Given the description of an element on the screen output the (x, y) to click on. 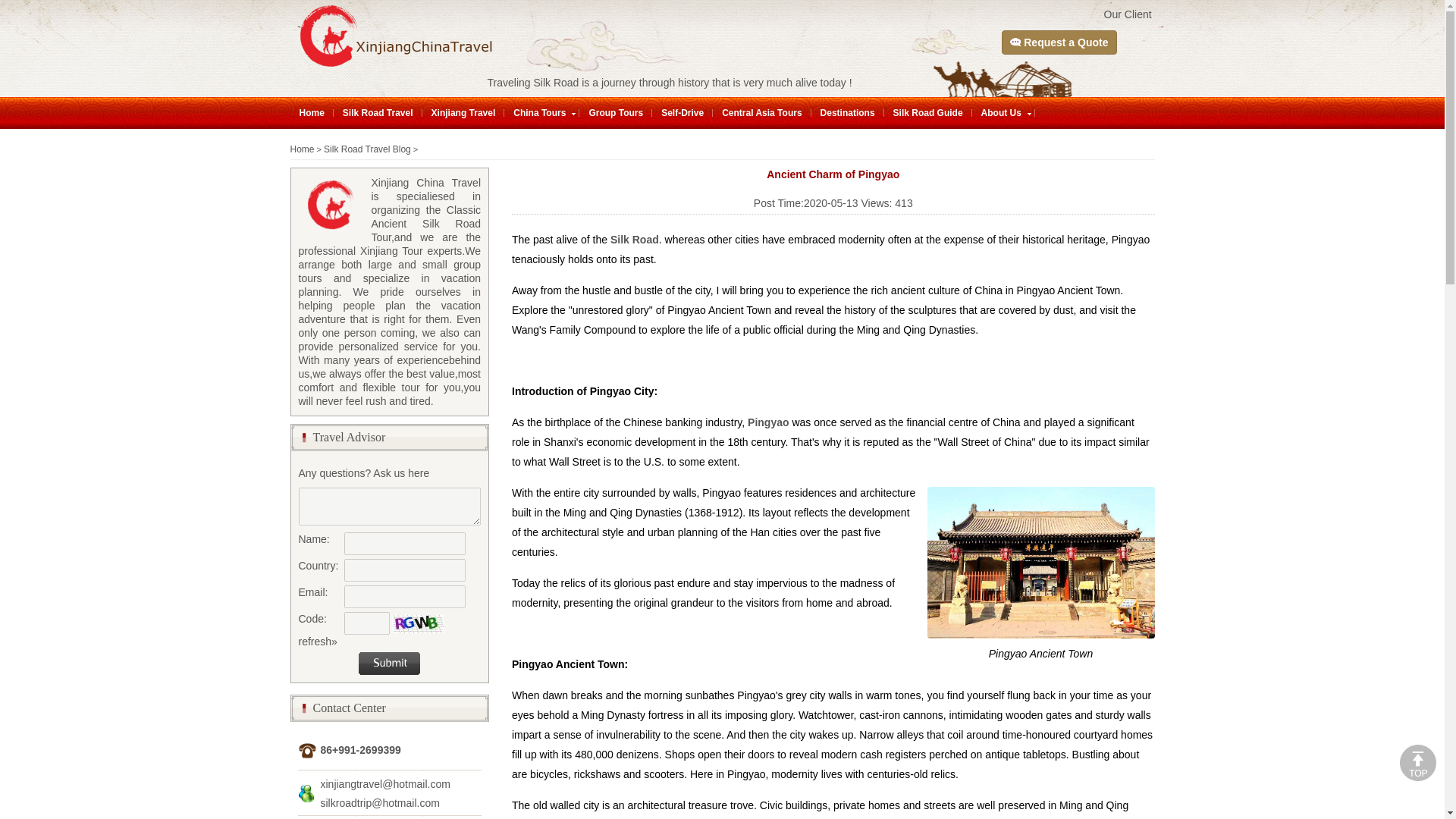
China Tours (539, 112)
Silk Road Travel (377, 112)
Xinjiang Travel (463, 112)
About Us (1001, 112)
Self-Drive (682, 112)
Home (310, 112)
pingyao ancient city.jpg (1040, 562)
Destinations (848, 112)
Group Tours (615, 112)
Silk Road Guide (927, 112)
Central Asia Tours (762, 112)
Our Client (1127, 14)
